Given the description of an element on the screen output the (x, y) to click on. 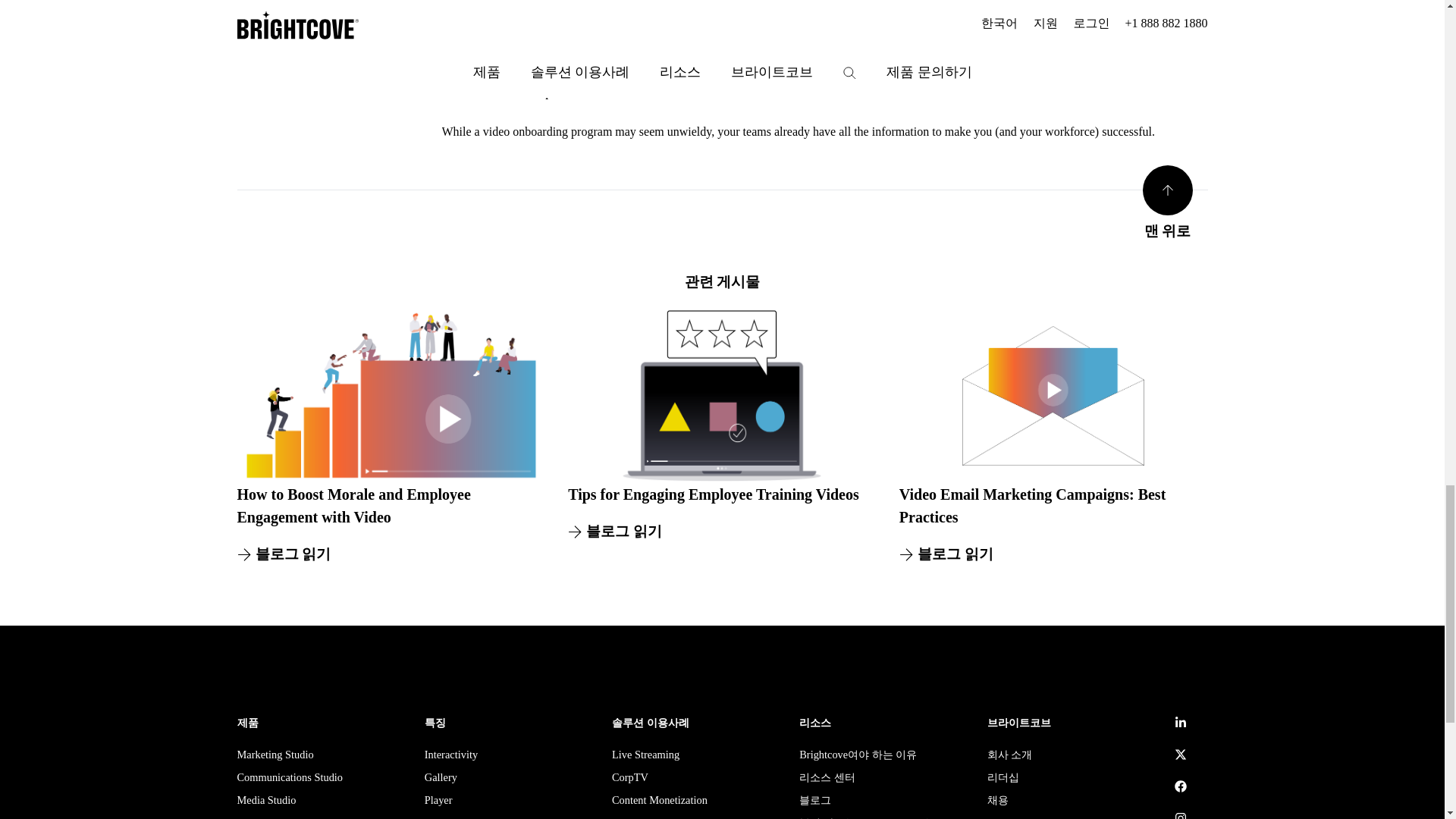
Read the Video blog (1078, 67)
Marketing Studio (274, 756)
chaptering your video content (1078, 67)
Brightcove instagram (1181, 815)
